Given the description of an element on the screen output the (x, y) to click on. 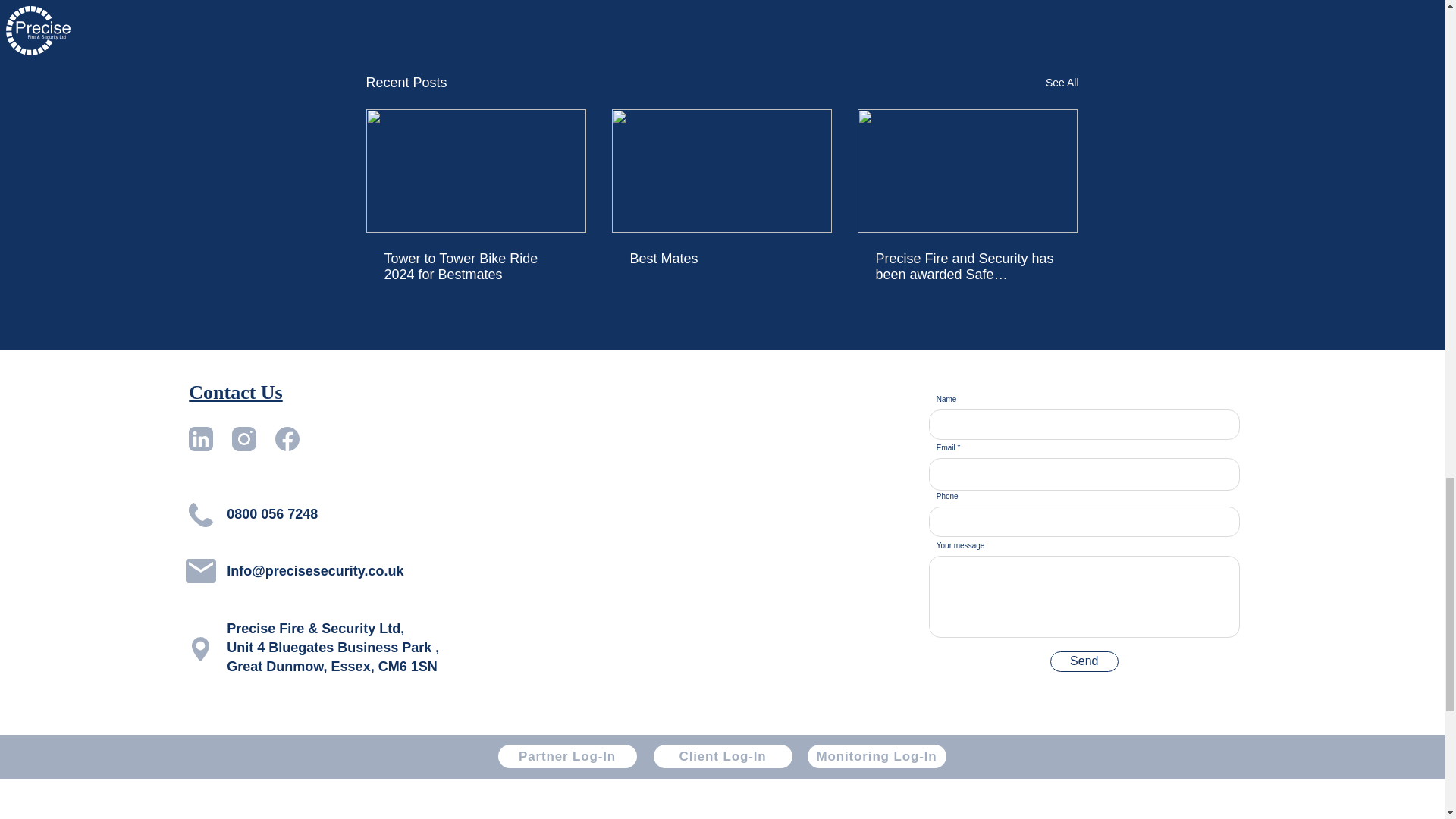
Tower to Tower Bike Ride 2024 for Bestmates (475, 266)
Best Mates (720, 258)
0800 056 7248 (272, 513)
See All (1061, 83)
